Given the description of an element on the screen output the (x, y) to click on. 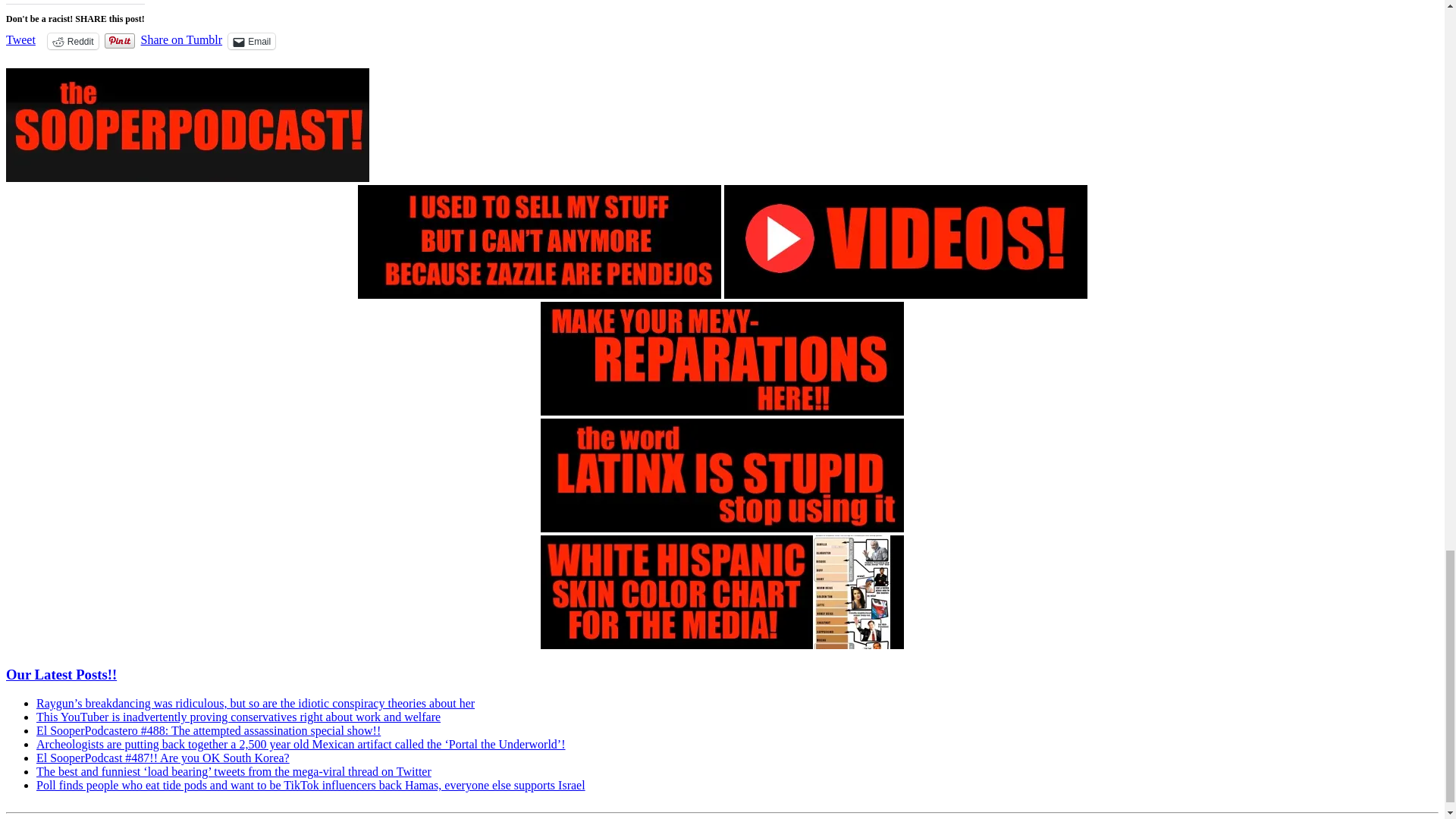
Click to email a link to a friend (251, 41)
Reddit (73, 41)
Share on Tumblr (181, 39)
Tweet (19, 39)
Email (251, 41)
Share on Tumblr (181, 39)
Click to share on Reddit (73, 41)
